Given the description of an element on the screen output the (x, y) to click on. 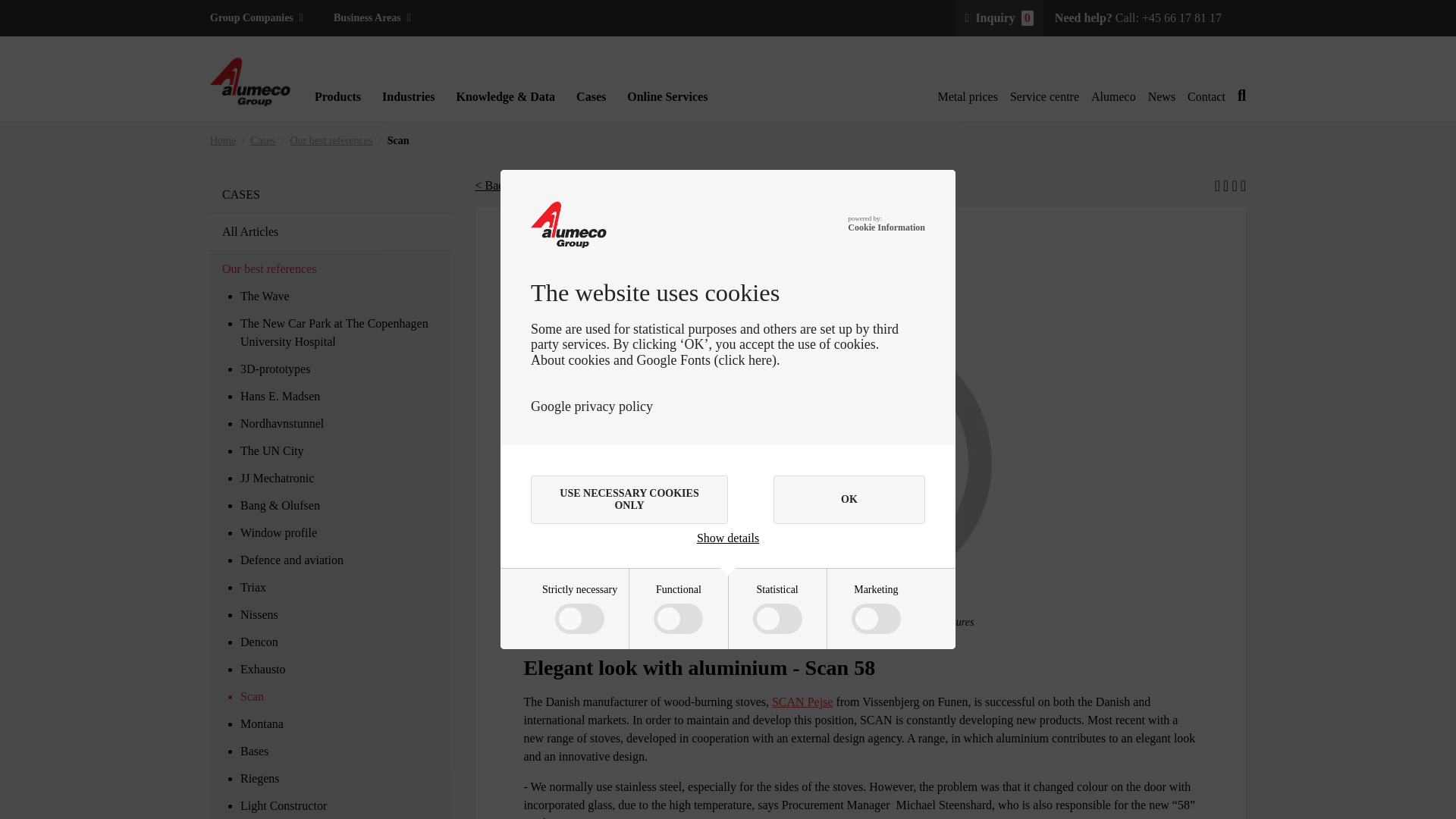
USE NECESSARY COOKIES ONLY (629, 499)
Google privacy policy (591, 406)
Show details (727, 538)
Cookie Information (885, 227)
OK (848, 499)
